Given the description of an element on the screen output the (x, y) to click on. 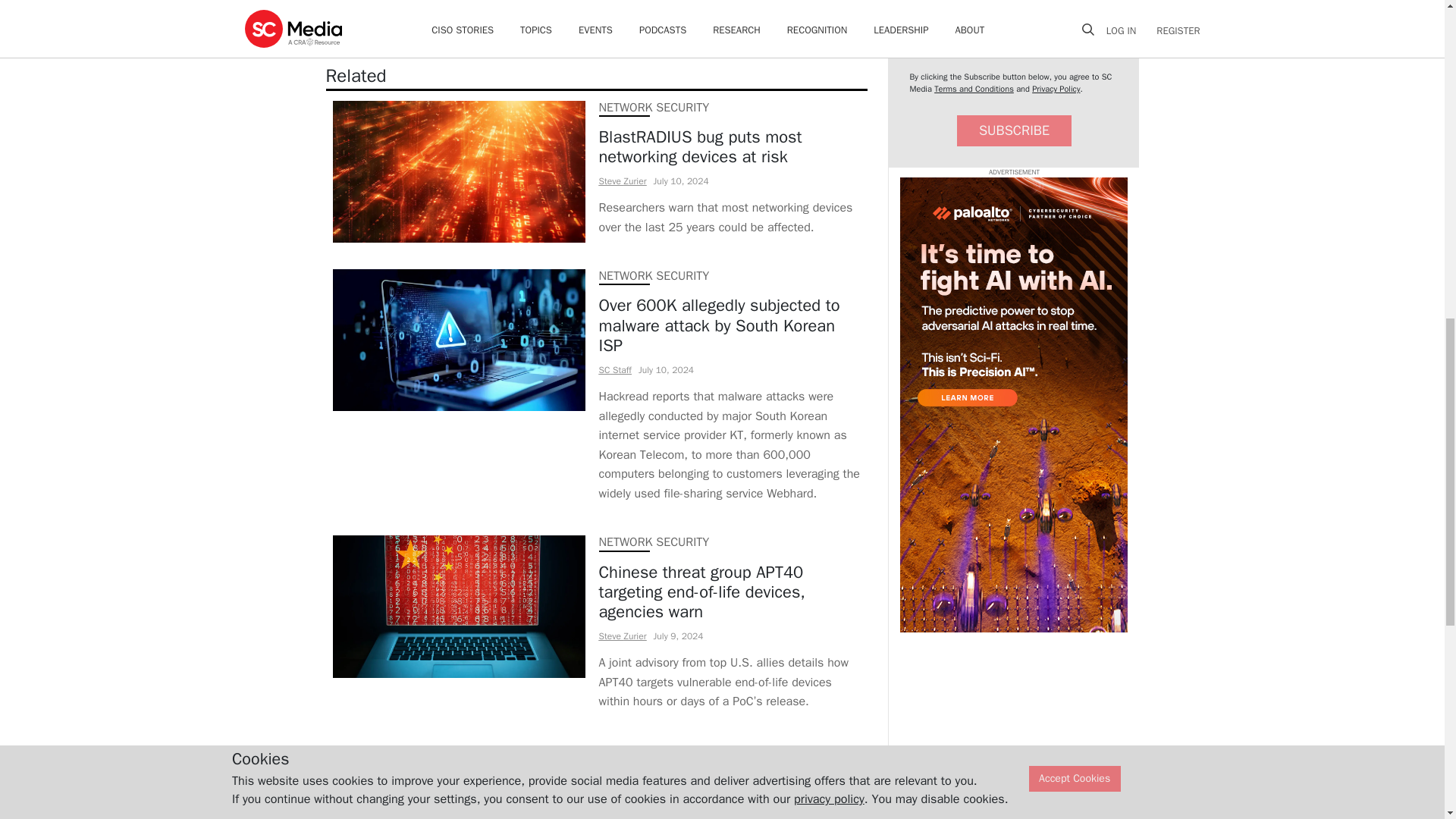
Terms and Conditions (973, 88)
Steve Zurier (622, 181)
Privacy Policy (1056, 88)
3rd party ad content (1012, 404)
NETWORK SECURITY (654, 541)
BlastRADIUS bug puts most networking devices at risk (729, 147)
3rd party ad content (721, 801)
SC Staff (614, 369)
Steve Zurier (622, 635)
NETWORK SECURITY (654, 107)
NETWORK SECURITY (654, 275)
SUBSCRIBE (1013, 130)
